Given the description of an element on the screen output the (x, y) to click on. 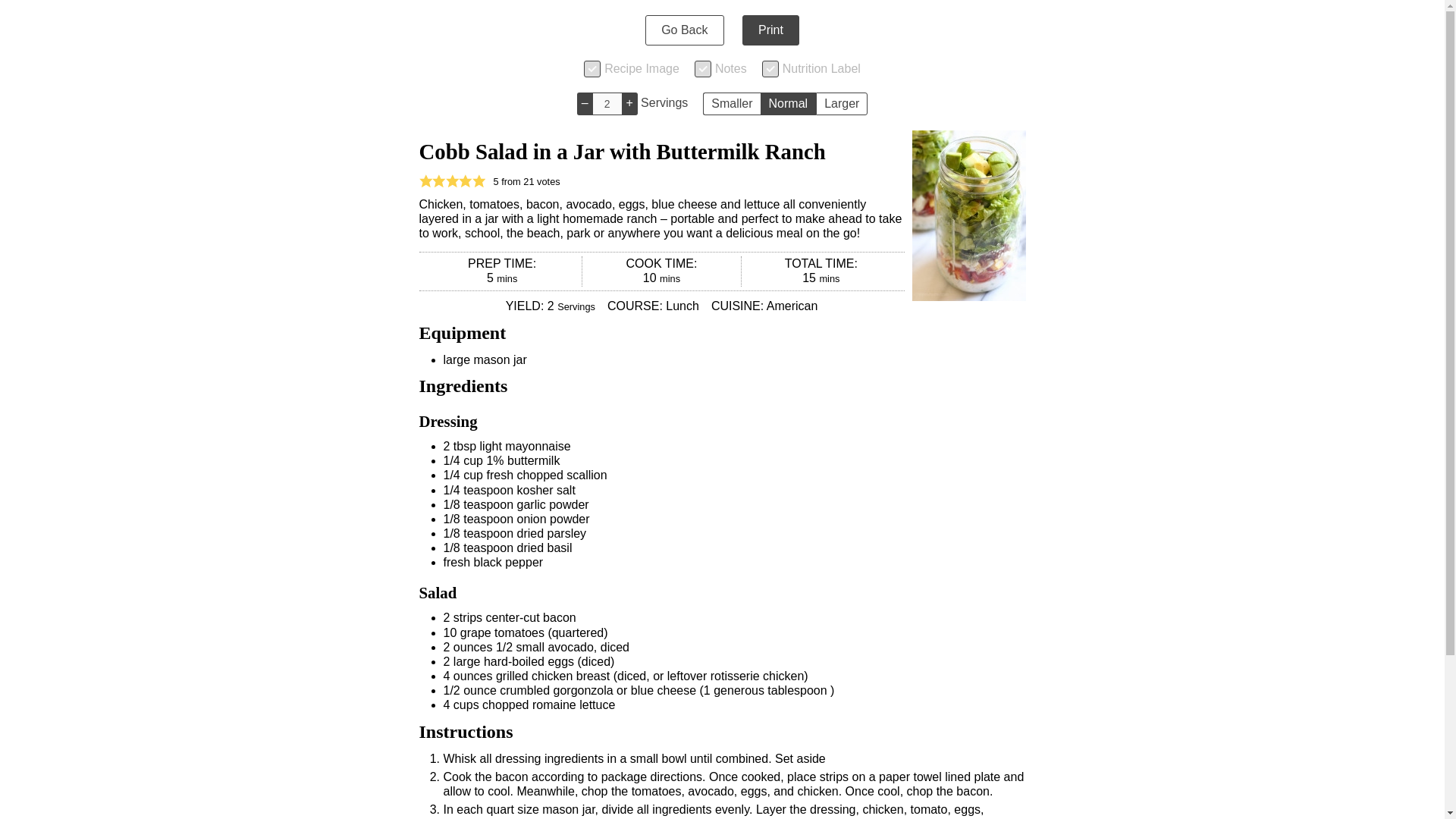
2 (607, 103)
Go Back (684, 30)
Smaller (731, 103)
Print (770, 30)
Larger (841, 103)
Normal (788, 103)
